Given the description of an element on the screen output the (x, y) to click on. 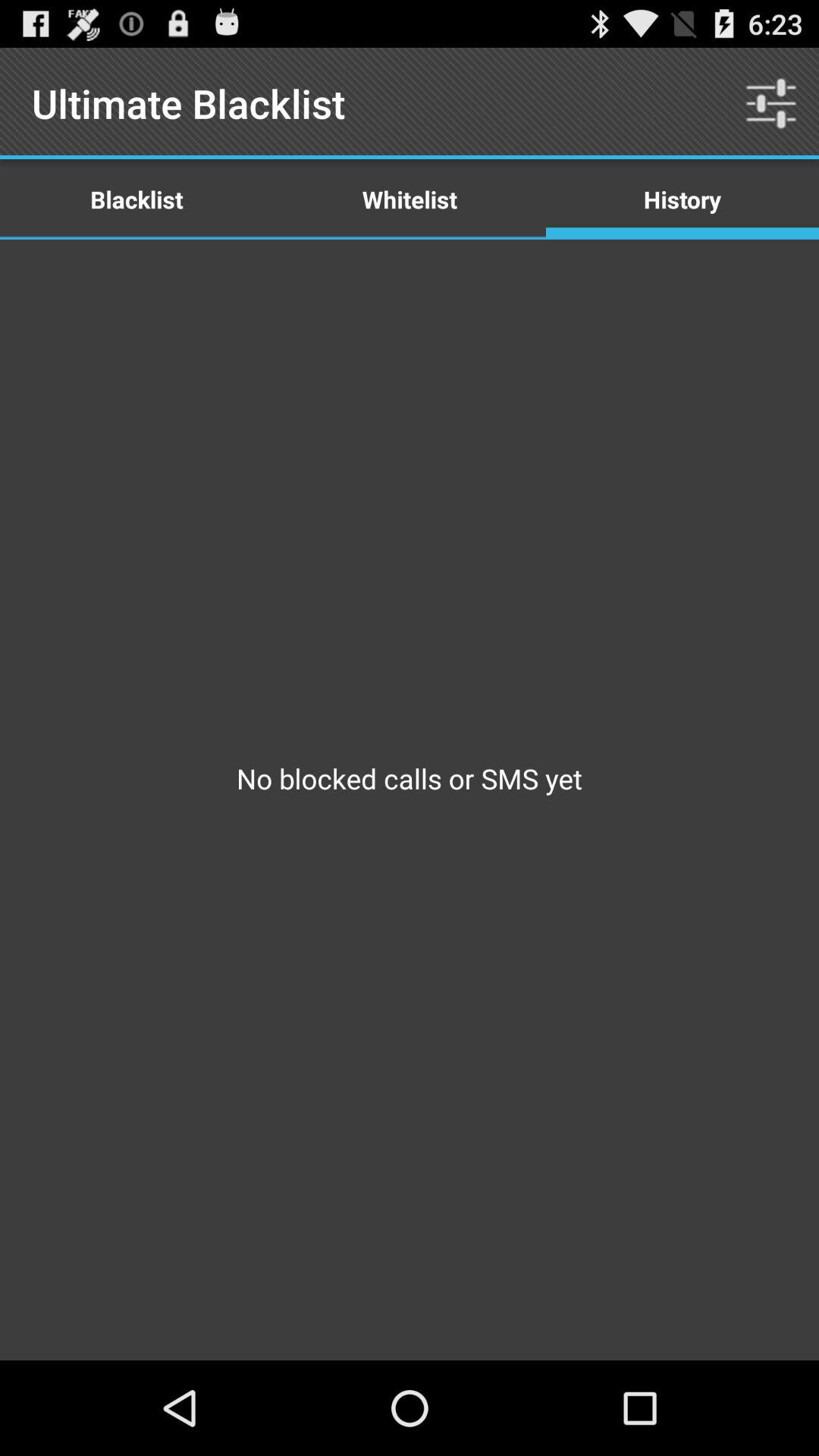
click item next to the blacklist icon (409, 199)
